Given the description of an element on the screen output the (x, y) to click on. 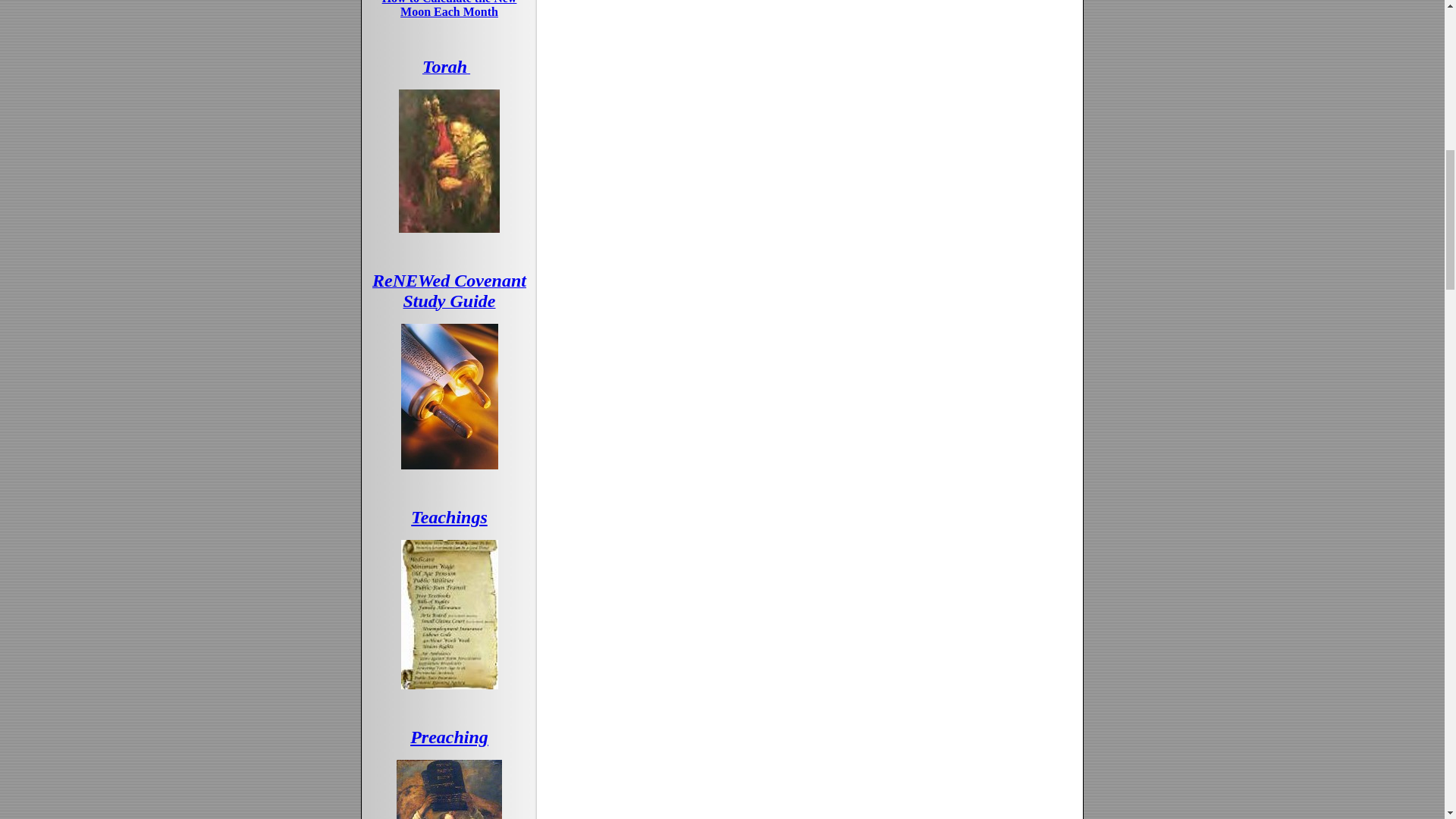
How to Calculate the New Moon Each Month (448, 9)
ReNEWed Covenant Study Guide (448, 292)
Torah  (446, 68)
Preaching (448, 736)
Teachings (448, 516)
